Given the description of an element on the screen output the (x, y) to click on. 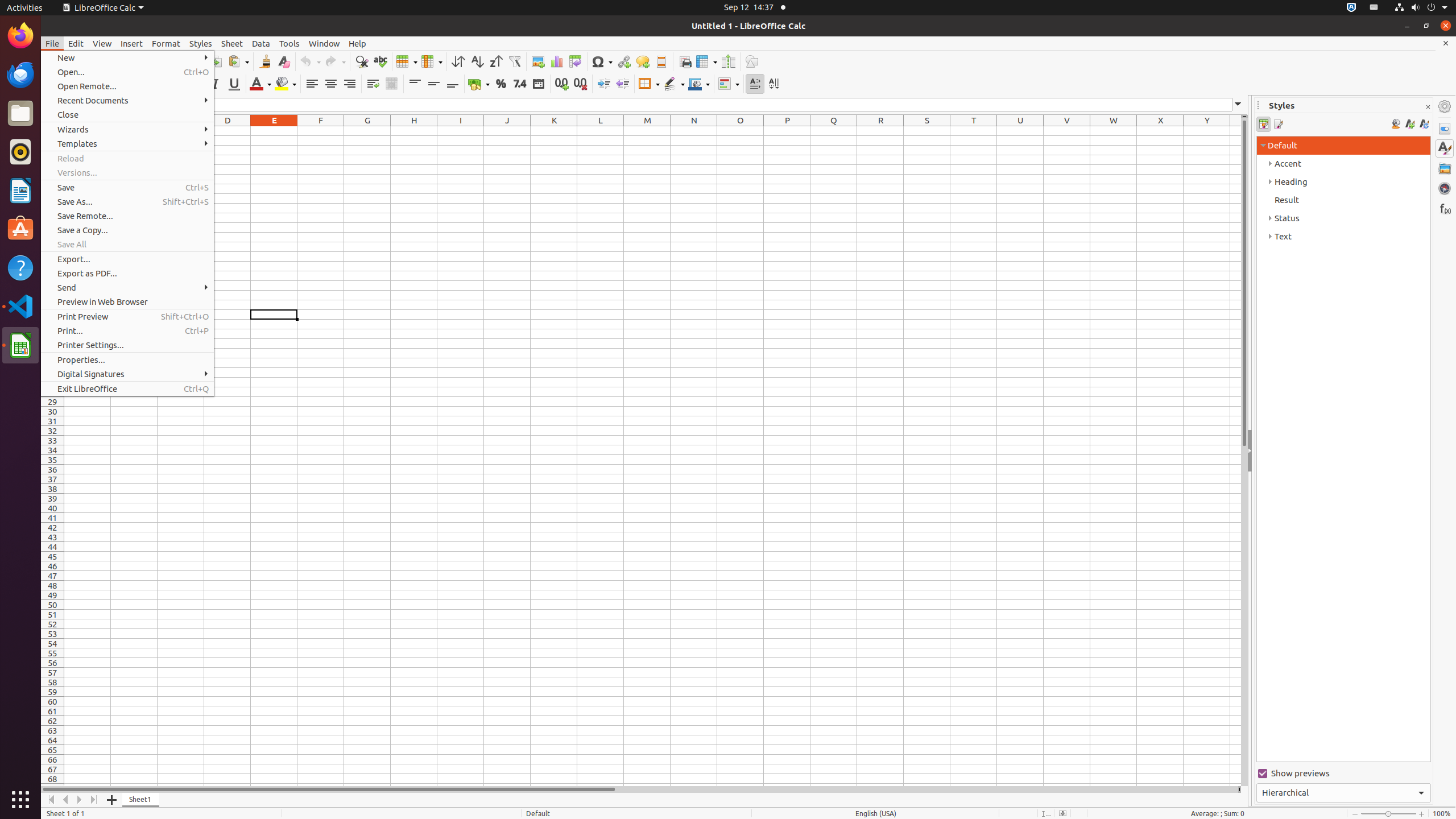
U1 Element type: table-cell (1020, 130)
Image Element type: push-button (537, 61)
Add Decimal Place Element type: push-button (561, 83)
Versions... Element type: menu-item (126, 172)
Clear Element type: push-button (283, 61)
